Given the description of an element on the screen output the (x, y) to click on. 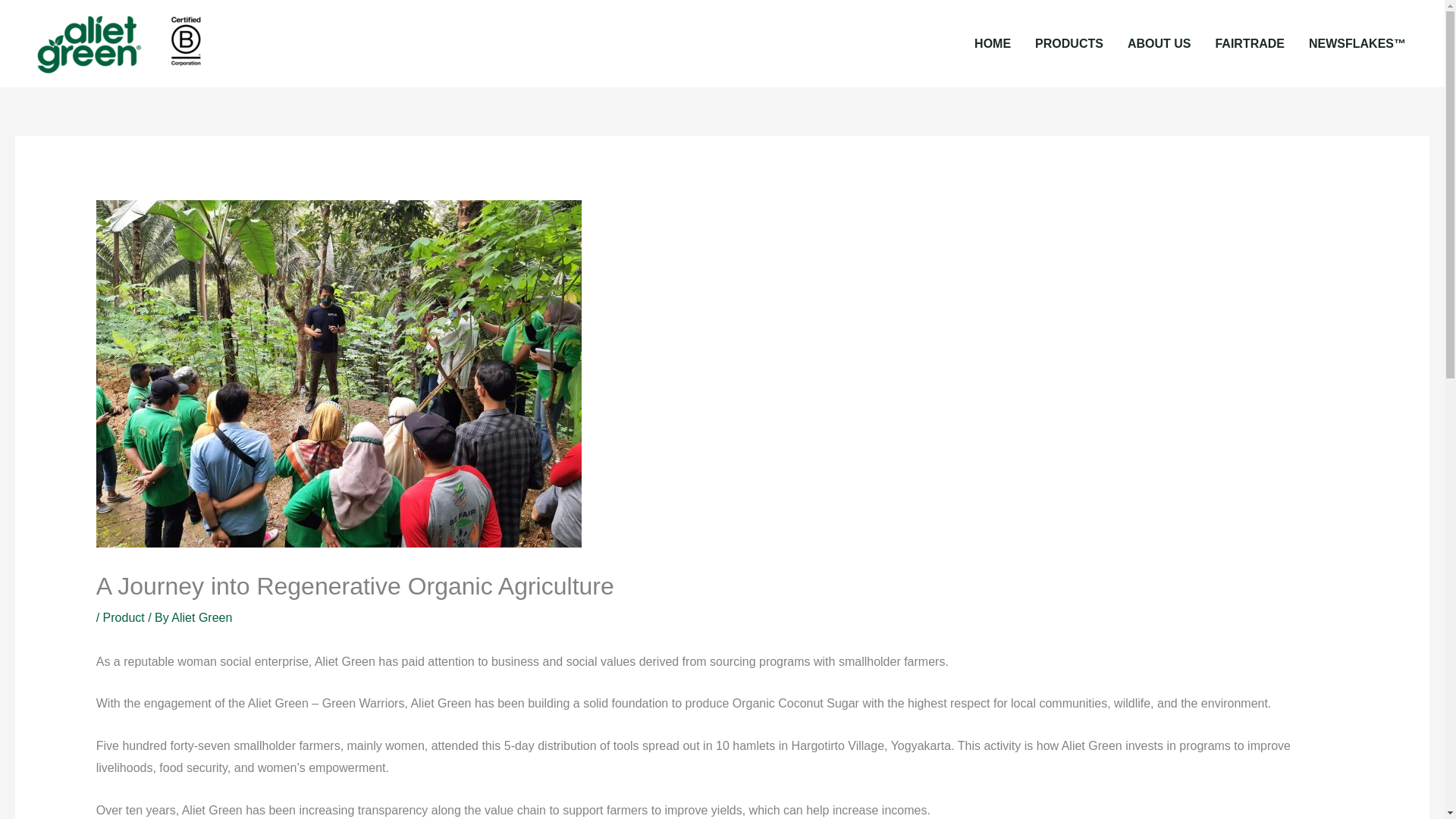
View all posts by Aliet Green (201, 617)
Aliet Green (201, 617)
HOME (992, 42)
FAIRTRADE (1249, 42)
ABOUT US (1159, 42)
PRODUCTS (1069, 42)
Product (123, 617)
